Given the description of an element on the screen output the (x, y) to click on. 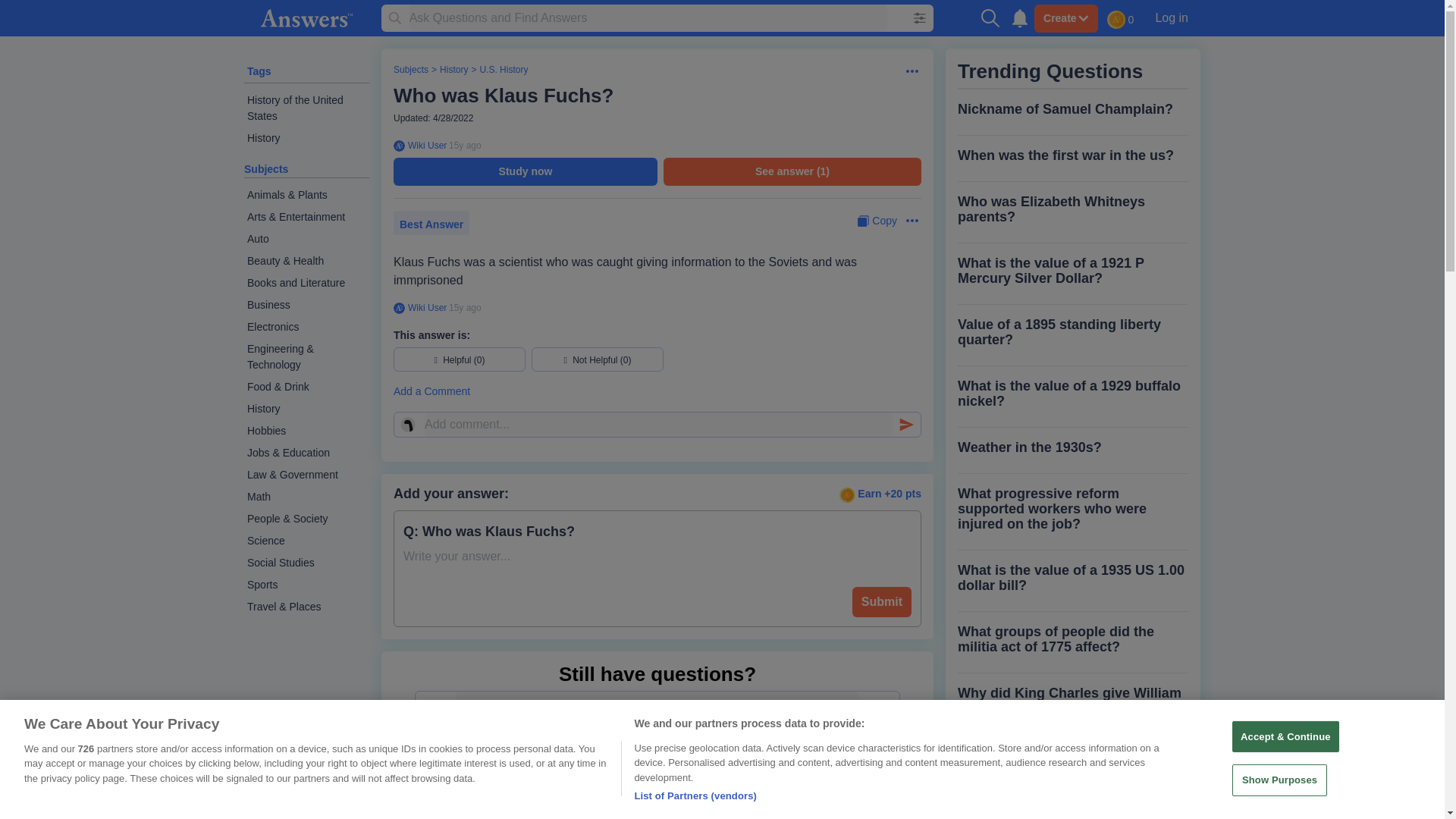
Log in (1170, 17)
Wiki User (425, 145)
Hobbies (306, 431)
Math (306, 496)
Science (306, 540)
2009-04-27 16:09:49 (464, 307)
2009-04-27 16:09:49 (464, 145)
Auto (306, 239)
Social Studies (306, 563)
Copy (876, 220)
